Given the description of an element on the screen output the (x, y) to click on. 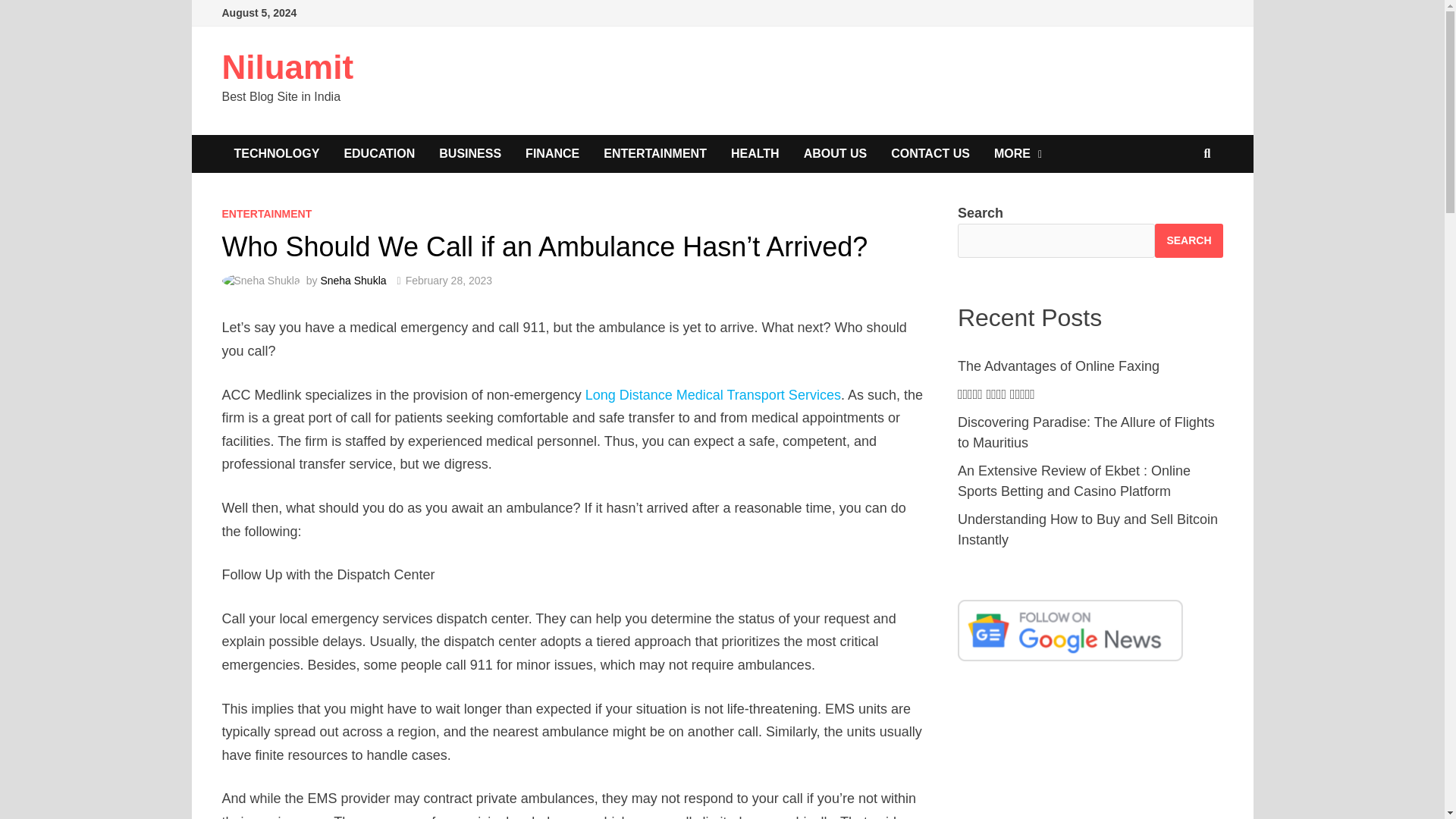
ENTERTAINMENT (655, 153)
February 28, 2023 (449, 280)
Long Distance Medical Transport Services (713, 394)
ABOUT US (835, 153)
CONTACT US (930, 153)
HEALTH (755, 153)
ENTERTAINMENT (266, 214)
EDUCATION (378, 153)
FINANCE (552, 153)
Sneha Shukla (352, 280)
Niluamit (287, 66)
TECHNOLOGY (276, 153)
BUSINESS (469, 153)
MORE (1017, 153)
